Given the description of an element on the screen output the (x, y) to click on. 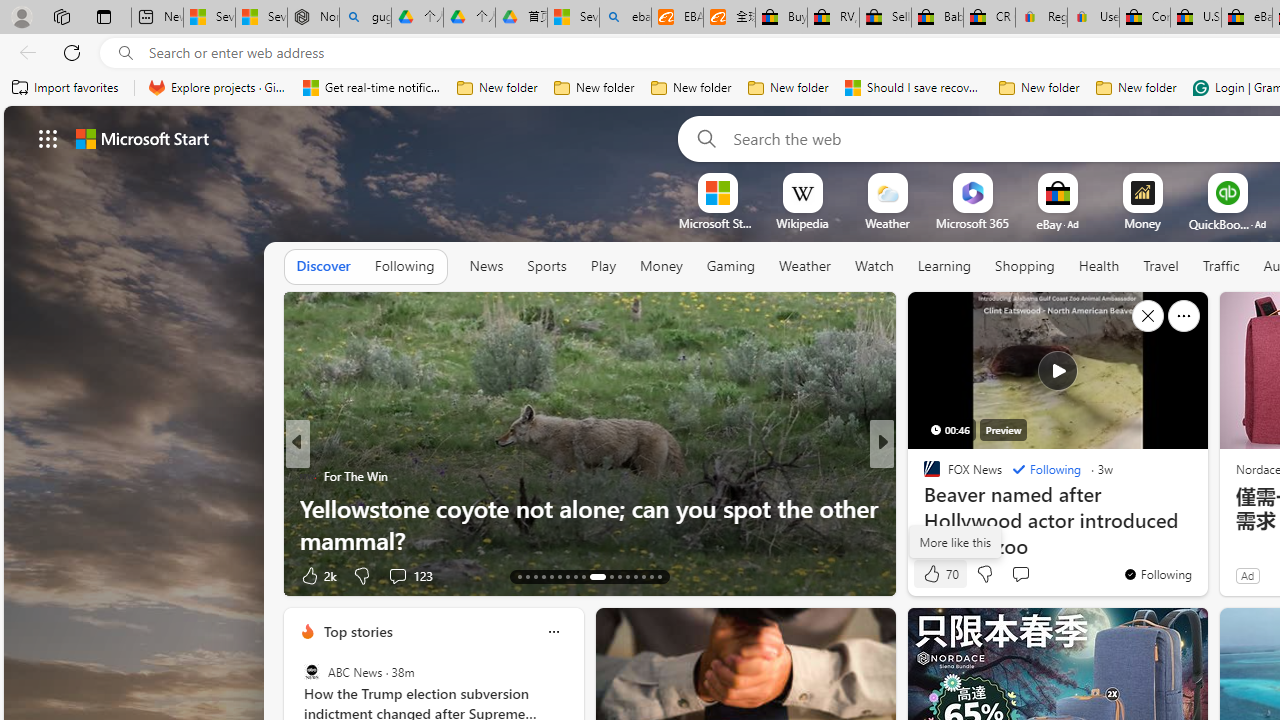
Learning (944, 267)
AutomationID: tab-13 (518, 576)
AutomationID: tab-16 (542, 576)
View comments 6 Comment (1014, 575)
Hide this story (1147, 315)
View comments 24 Comment (1029, 574)
User Privacy Notice | eBay (1092, 17)
